Given the description of an element on the screen output the (x, y) to click on. 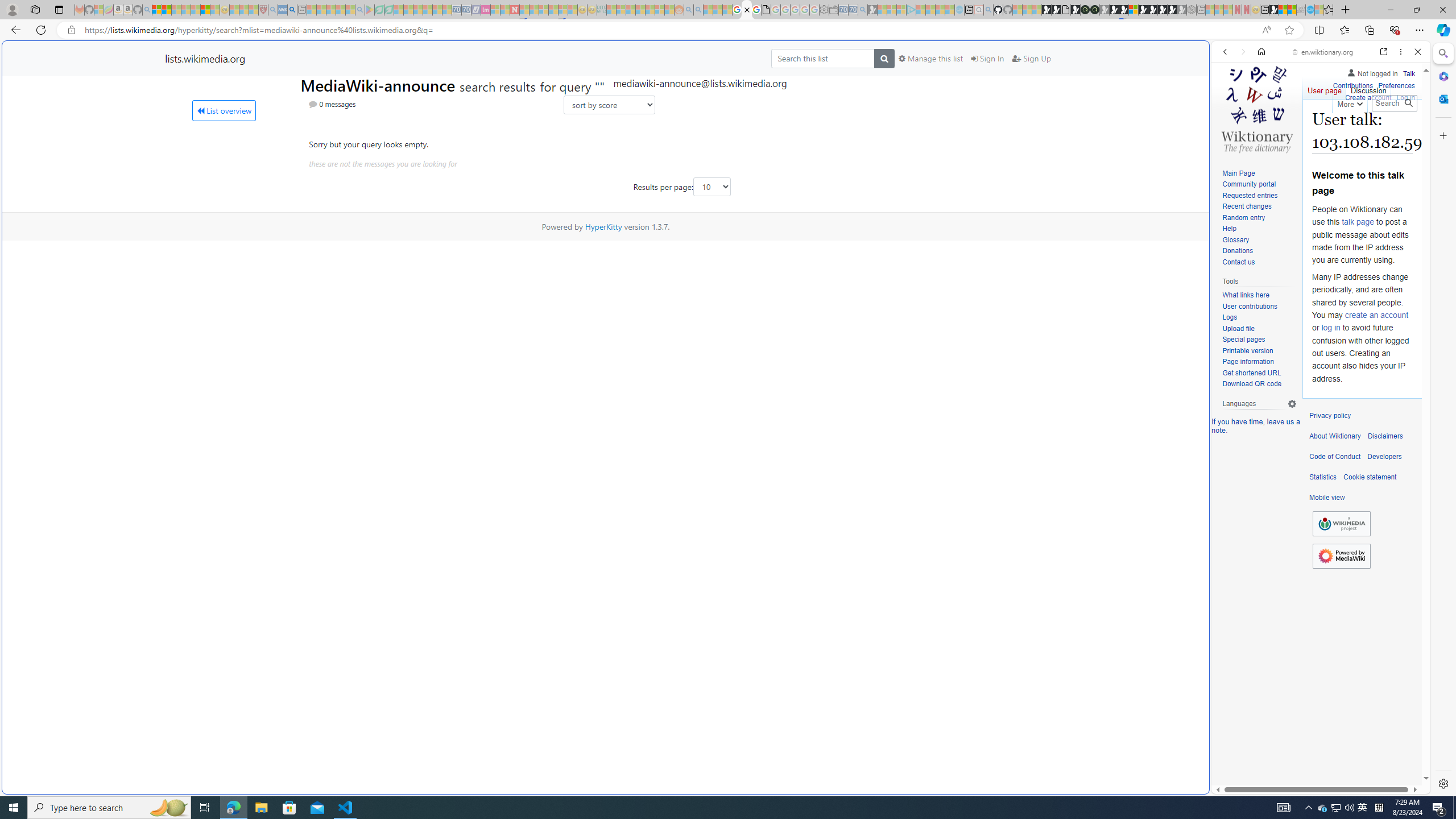
Download QR code (1251, 384)
Search Wiktionary (1393, 103)
Discussion (1367, 87)
Page information (1247, 361)
Services - Maintenance | Sky Blue Bikes - Sky Blue Bikes (1309, 9)
Glossary (1235, 239)
